Given the description of an element on the screen output the (x, y) to click on. 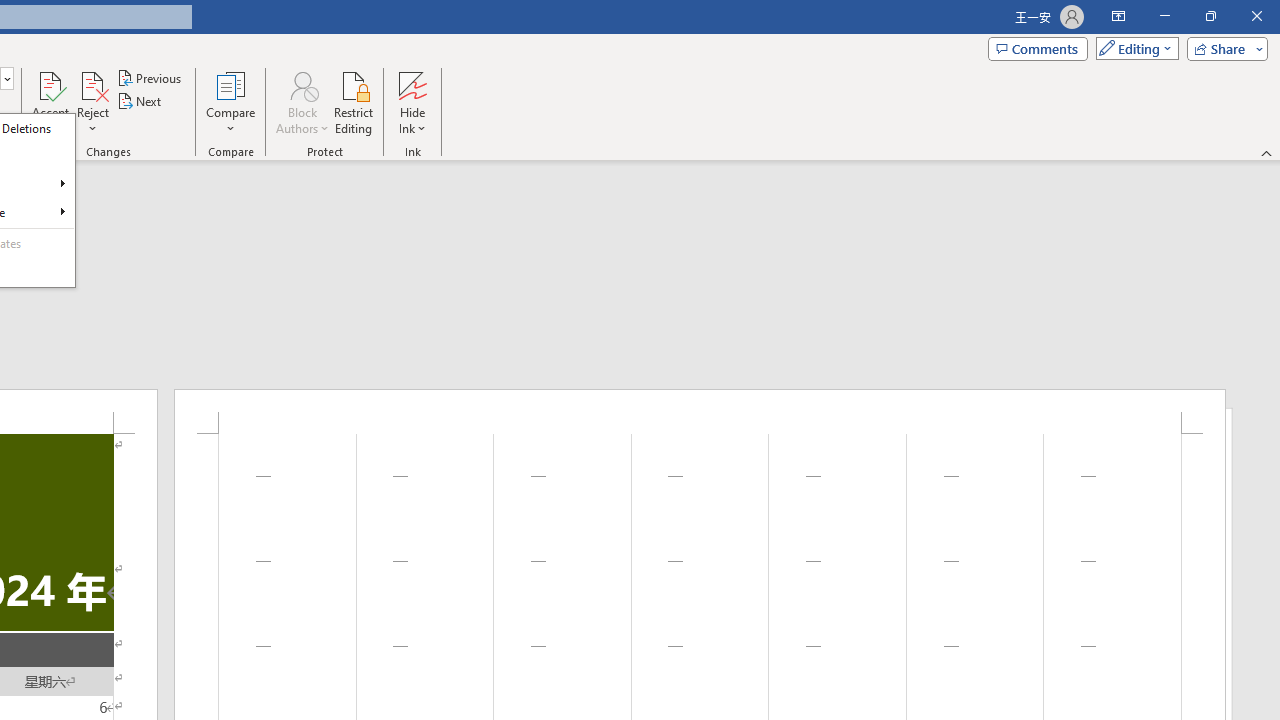
Hide Ink (412, 84)
Restrict Editing (353, 102)
Compare (230, 102)
Previous (150, 78)
Accept and Move to Next (50, 84)
Next (140, 101)
Reject and Move to Next (92, 84)
